Given the description of an element on the screen output the (x, y) to click on. 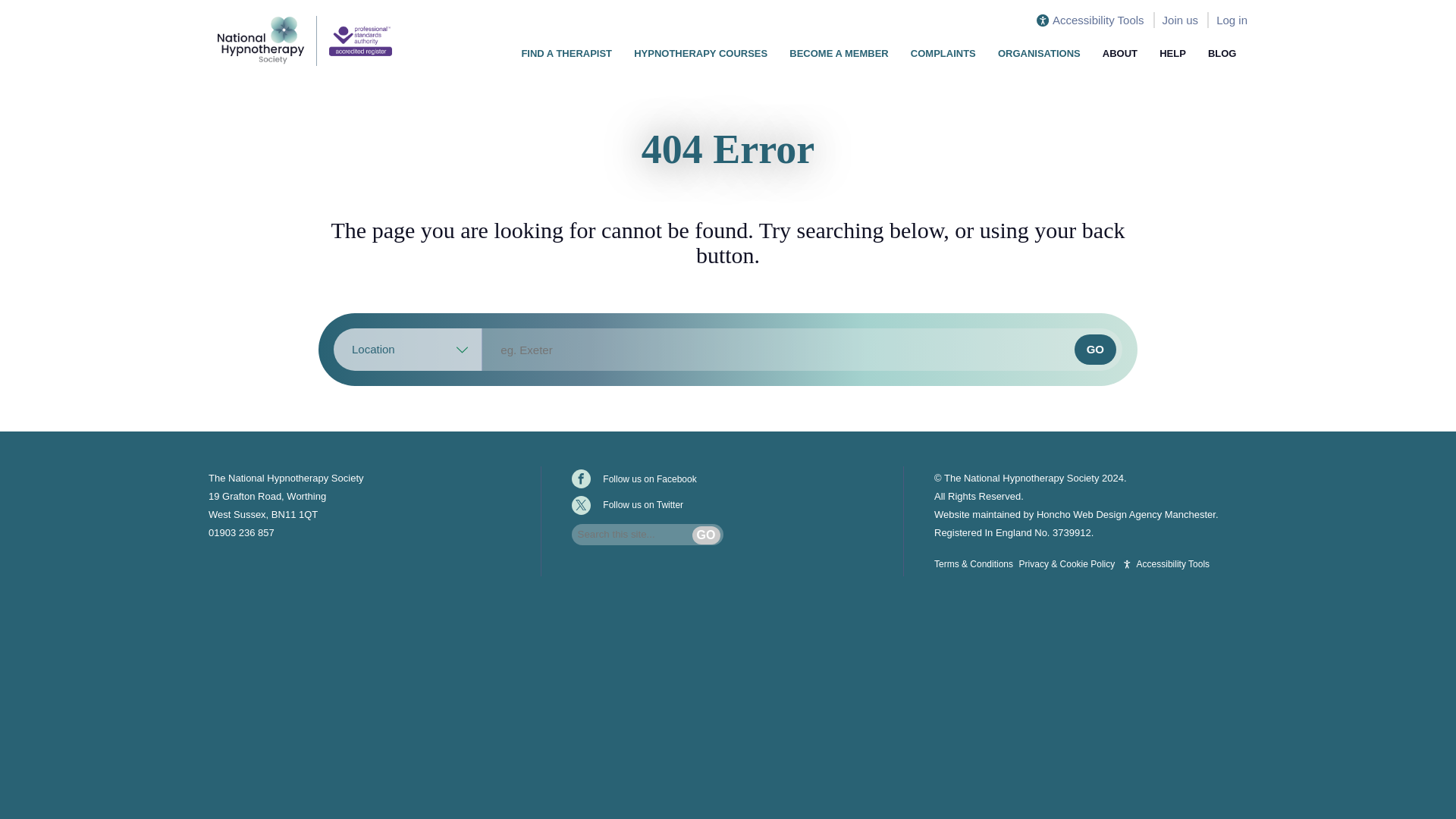
Join us (1179, 19)
Accessibility Tools (1089, 19)
BECOME A MEMBER (838, 52)
ORGANISATIONS (1038, 52)
BLOG (1221, 52)
FIND A THERAPIST (567, 52)
Log in (1231, 19)
ABOUT (1119, 52)
GO (1095, 349)
COMPLAINTS (943, 52)
GO (1095, 349)
HYPNOTHERAPY COURSES (700, 52)
Go (706, 535)
01903 236 857 (241, 532)
